Given the description of an element on the screen output the (x, y) to click on. 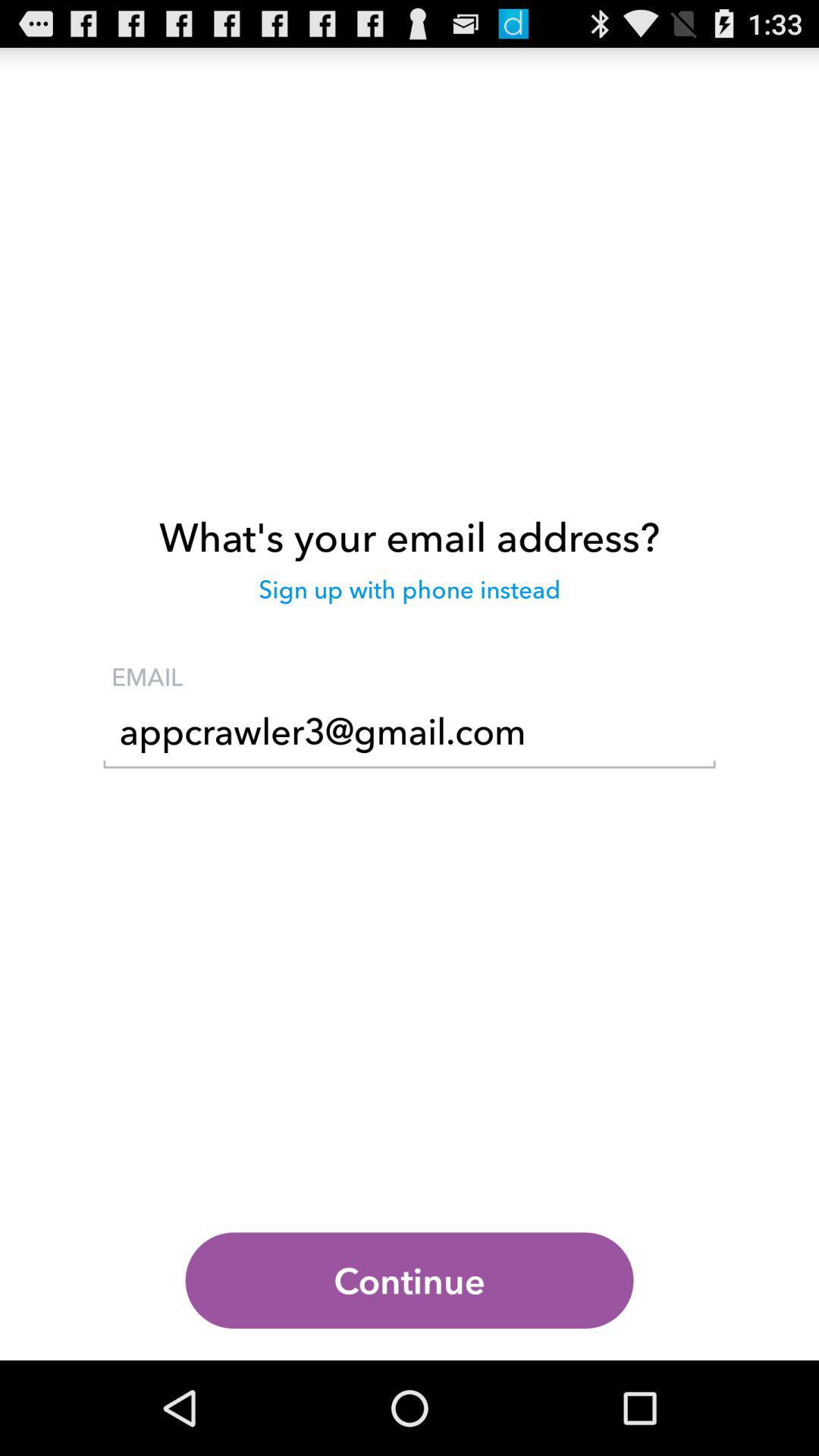
select icon above the email icon (409, 597)
